Given the description of an element on the screen output the (x, y) to click on. 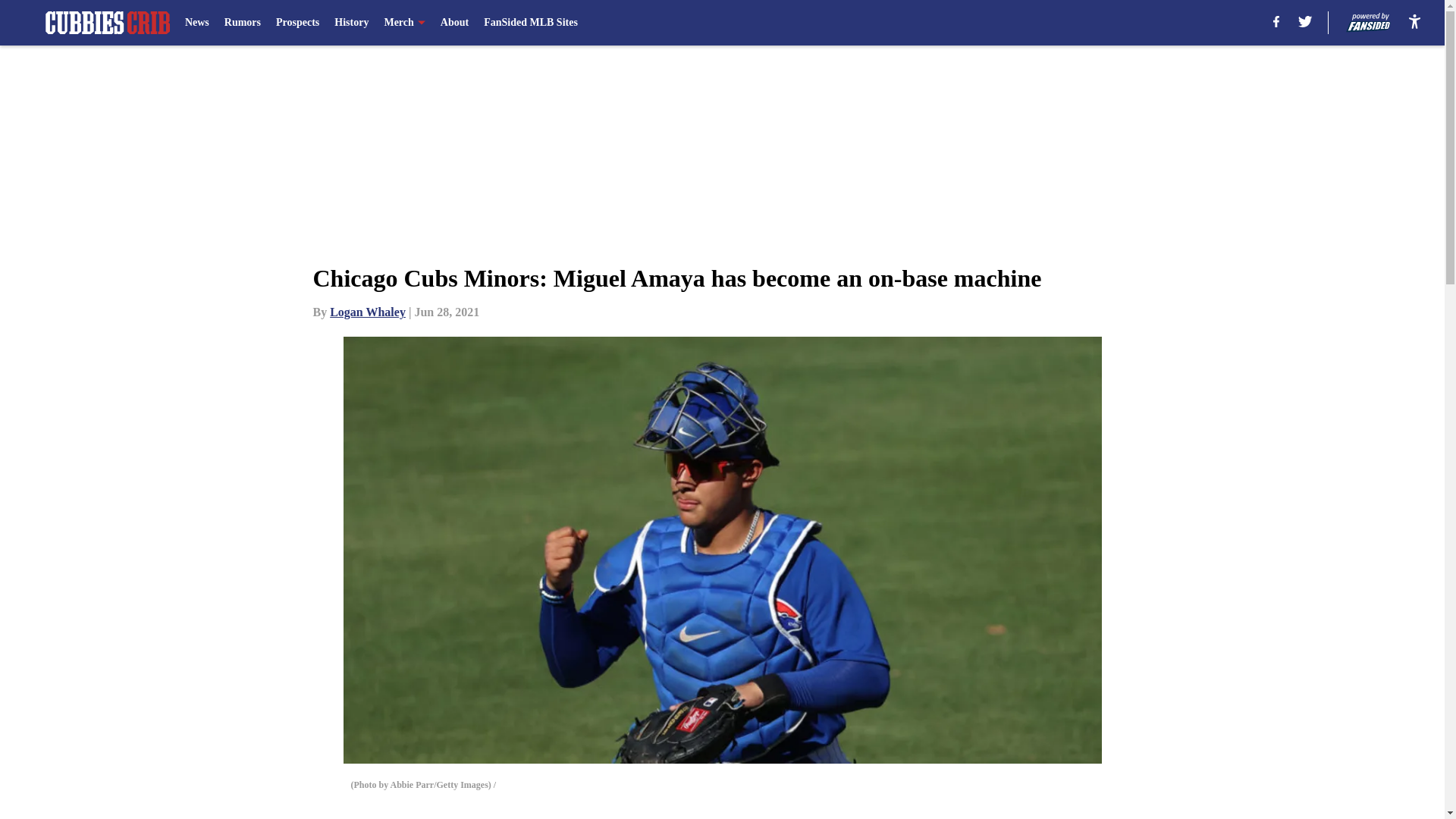
About (454, 22)
FanSided MLB Sites (530, 22)
History (351, 22)
News (196, 22)
Rumors (242, 22)
Prospects (297, 22)
Logan Whaley (368, 311)
